Given the description of an element on the screen output the (x, y) to click on. 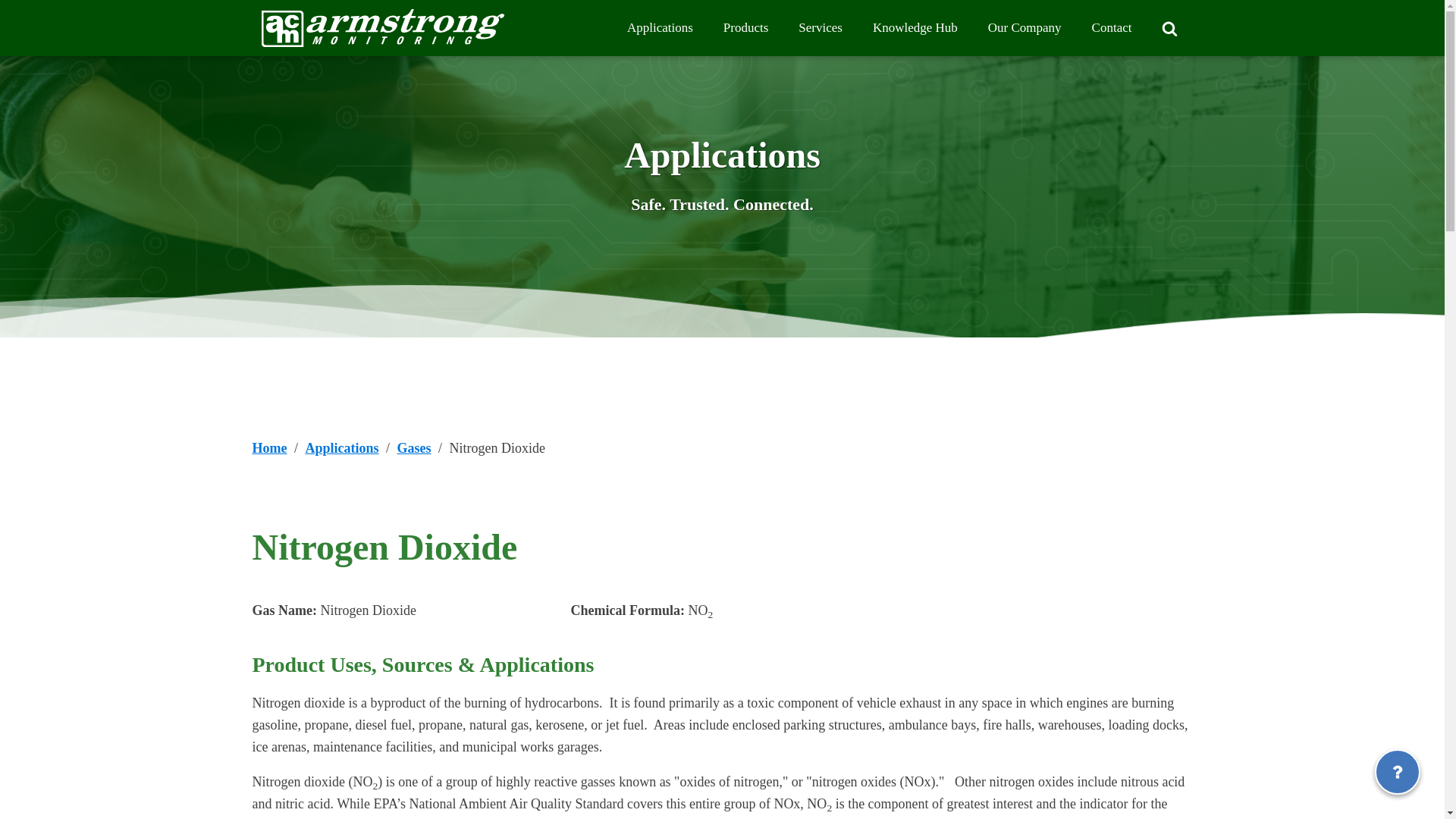
Applications (659, 28)
Applications (341, 447)
Armstrong Monitoring Logo (381, 28)
Gases (413, 447)
Home (268, 447)
